Given the description of an element on the screen output the (x, y) to click on. 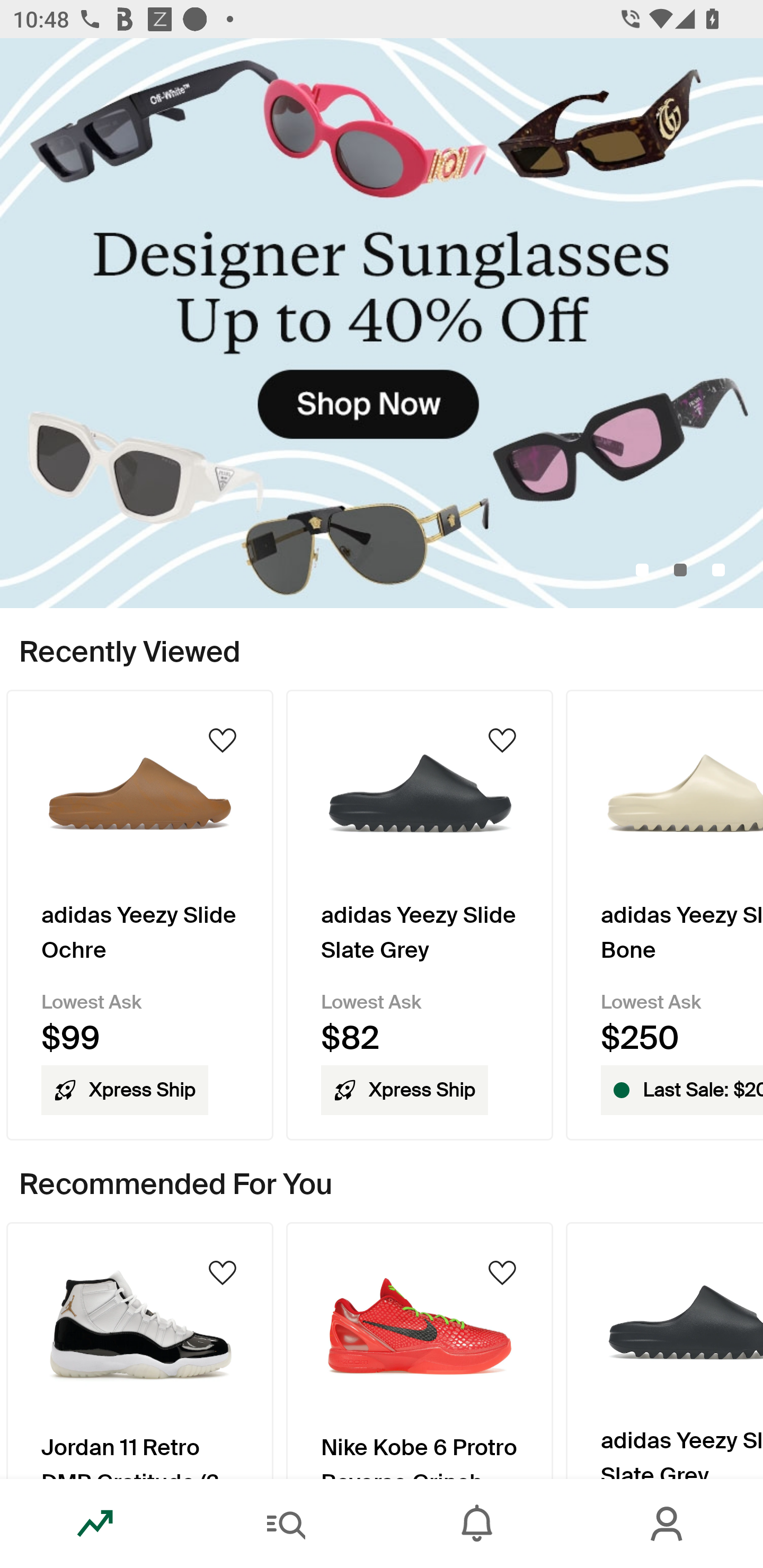
DesignerSunglassesUpto40_Off_Primary_Mobile.jpg (381, 322)
Product Image Jordan 11 Retro DMP Gratitude (2023) (139, 1349)
Product Image Nike Kobe 6 Protro Reverse Grinch (419, 1349)
Product Image adidas Yeezy Slide Slate Grey (664, 1349)
Search (285, 1523)
Inbox (476, 1523)
Account (667, 1523)
